Given the description of an element on the screen output the (x, y) to click on. 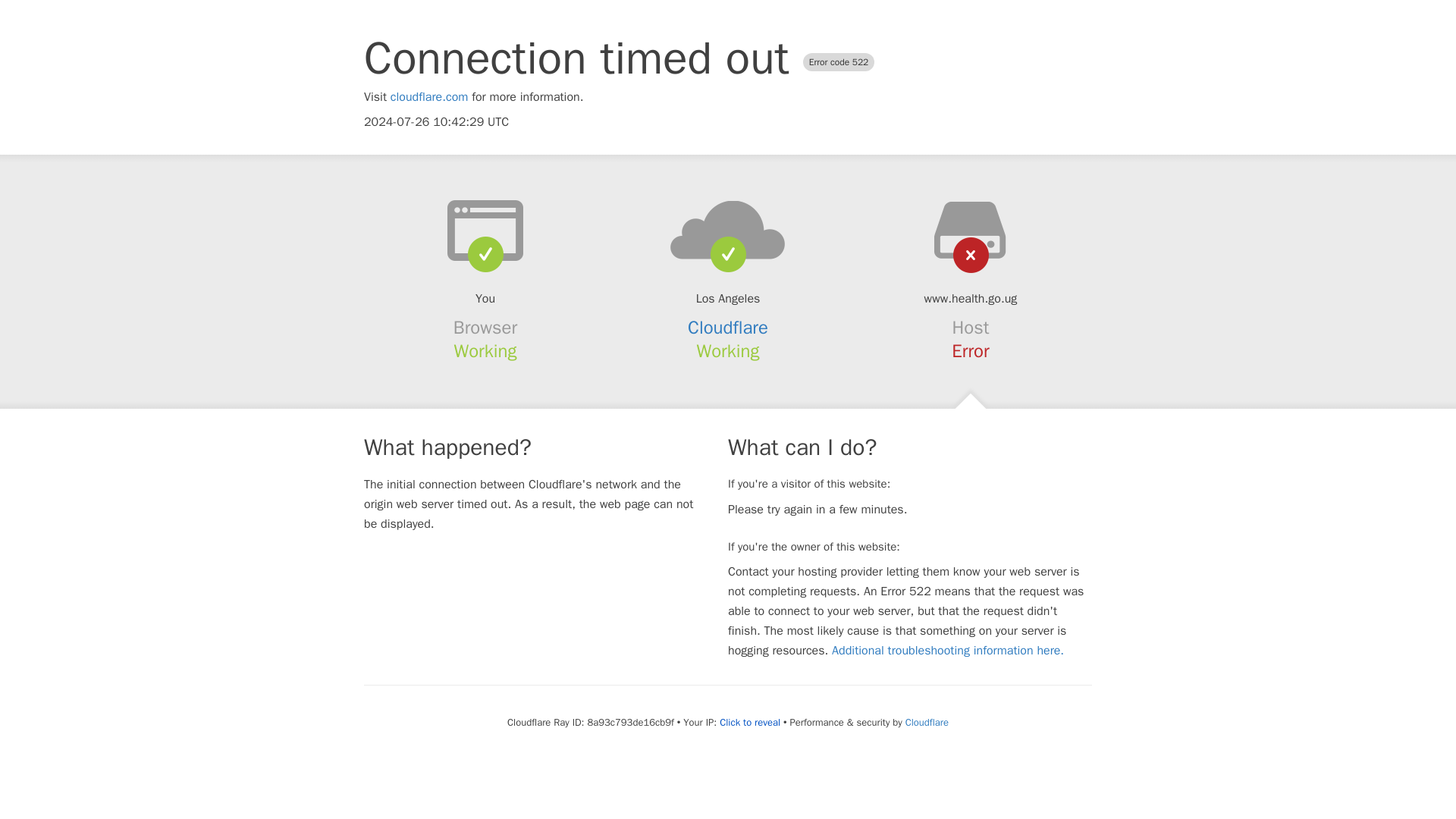
Cloudflare (927, 721)
Cloudflare (727, 327)
Click to reveal (749, 722)
cloudflare.com (429, 96)
Additional troubleshooting information here. (947, 650)
